Given the description of an element on the screen output the (x, y) to click on. 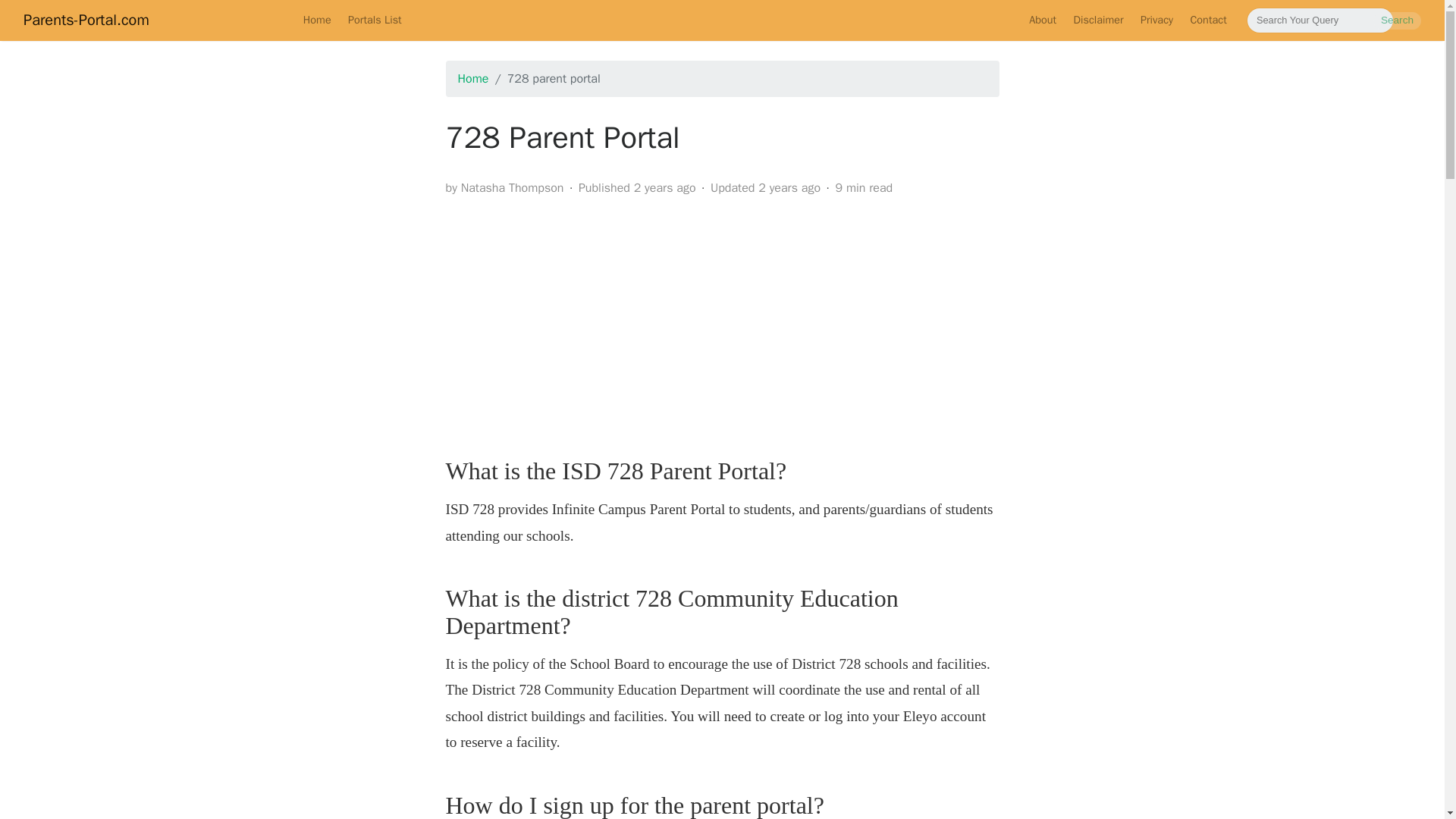
Parents-Portal.com (86, 20)
About (1042, 20)
Home (317, 20)
Search (1397, 20)
Home (473, 78)
Advertisement (721, 315)
Privacy (1157, 20)
Contact (1207, 20)
Disclaimer (1097, 20)
Portals List (374, 20)
